Given the description of an element on the screen output the (x, y) to click on. 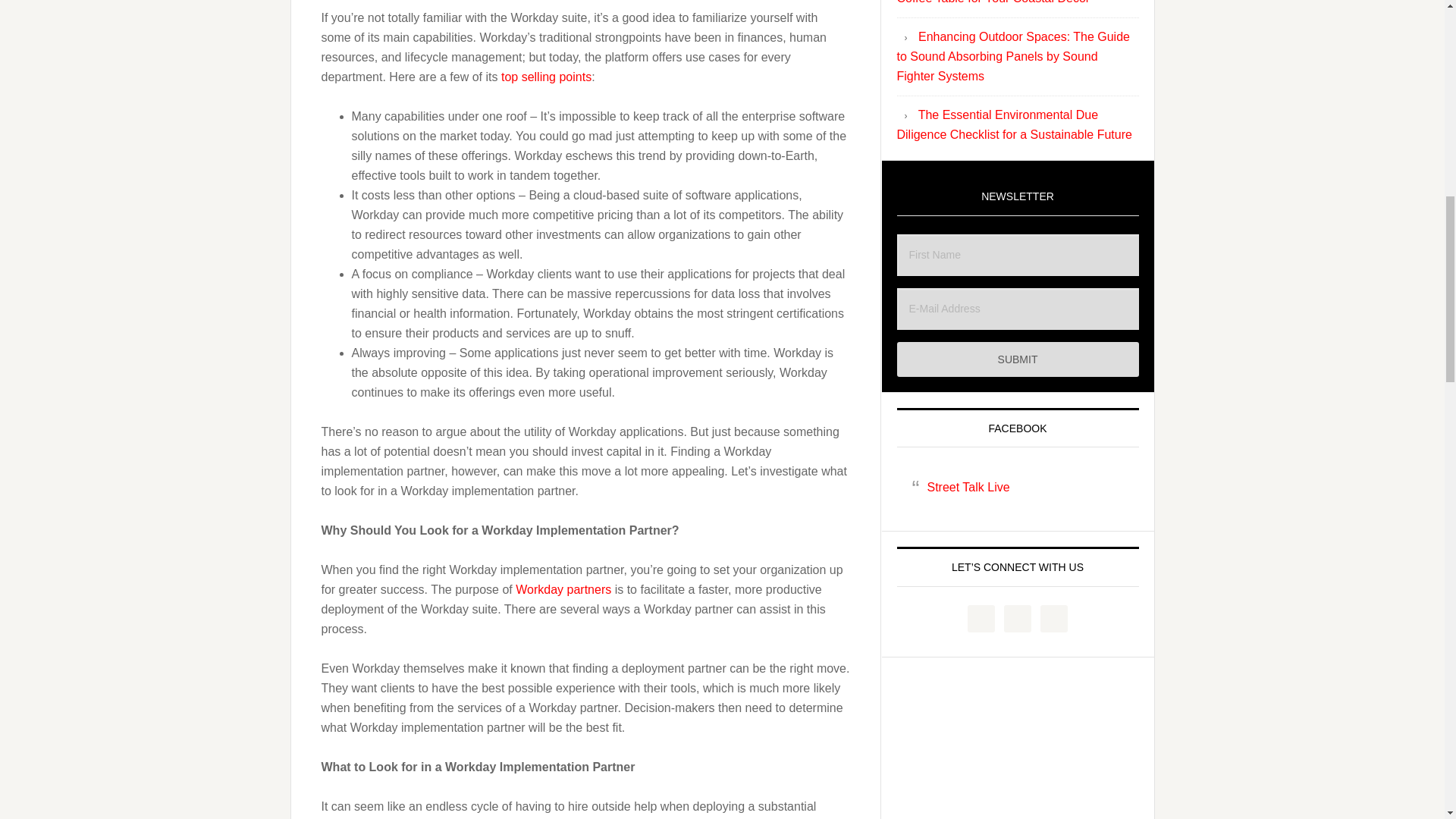
Submit (1017, 359)
top selling points (545, 76)
Workday partners (563, 589)
